Given the description of an element on the screen output the (x, y) to click on. 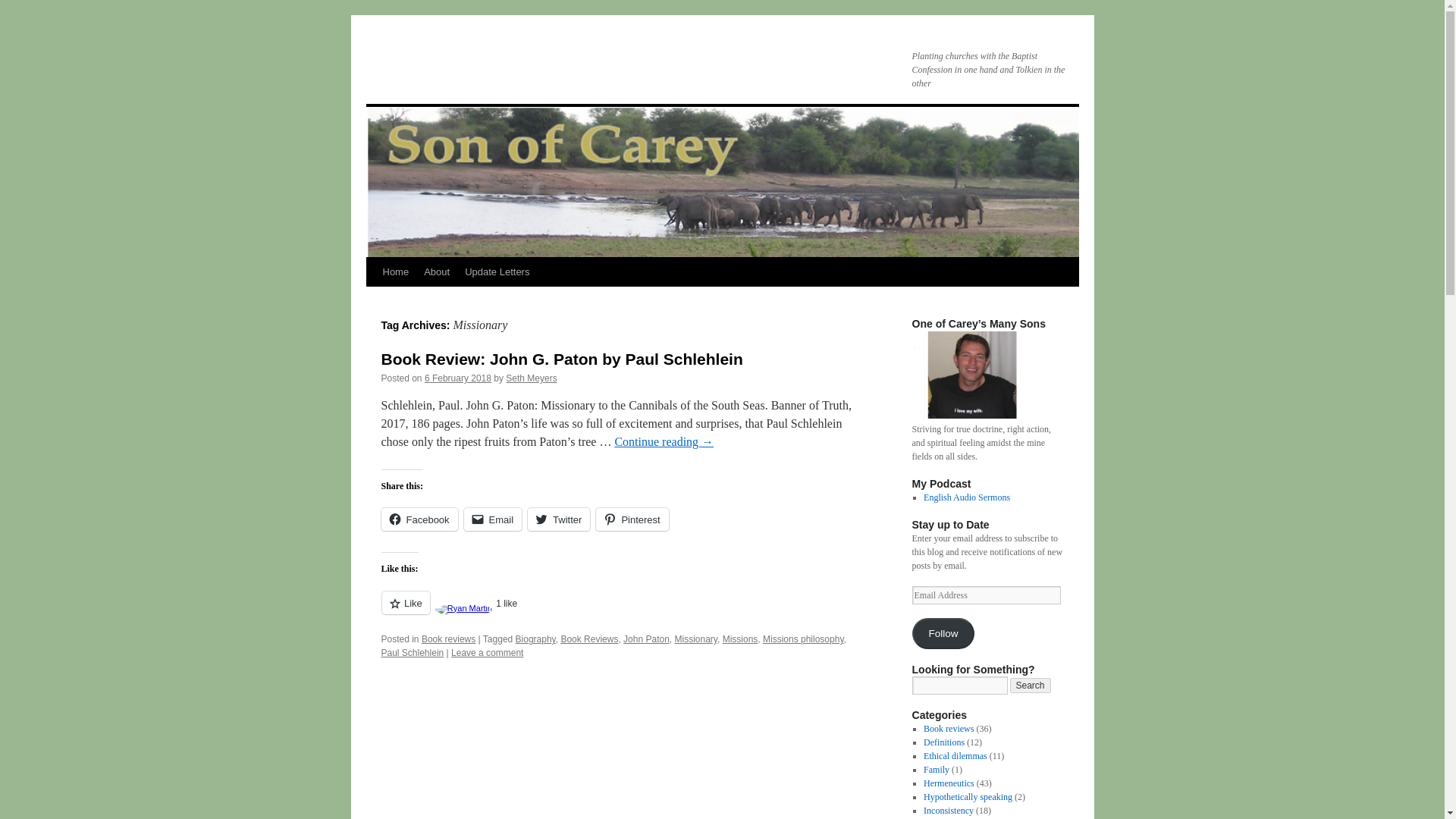
Book reviews (449, 638)
Seth Meyers (530, 378)
Click to share on Twitter (558, 518)
My English audio sermons (966, 497)
Missions (740, 638)
6 February 2018 (458, 378)
Twitter (558, 518)
Click to share on Facebook (418, 518)
Pinterest (631, 518)
Missionary (696, 638)
Skip to content (372, 300)
Click to email a link to a friend (493, 518)
Missions philosophy (803, 638)
Update Letters (497, 271)
Book Review: John G. Paton by Paul Schlehlein (561, 358)
